Given the description of an element on the screen output the (x, y) to click on. 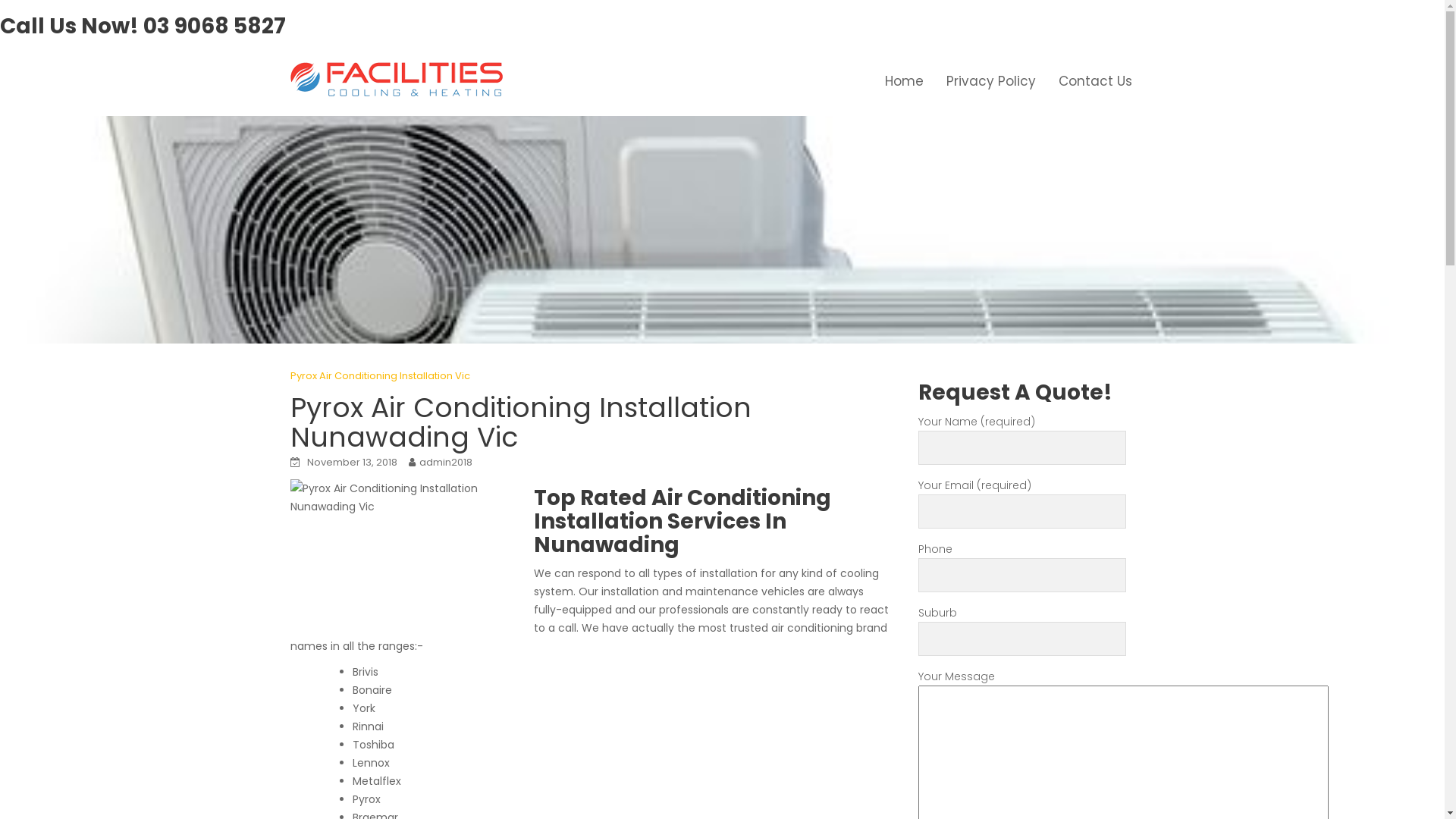
November 13, 2018 Element type: text (351, 462)
Home Element type: text (904, 81)
Privacy Policy Element type: text (990, 81)
Pyrox Air Conditioning Installation Vic Element type: text (379, 375)
Contact Us Element type: text (1094, 81)
admin2018 Element type: text (444, 462)
03 9068 5827 Element type: text (214, 25)
